Given the description of an element on the screen output the (x, y) to click on. 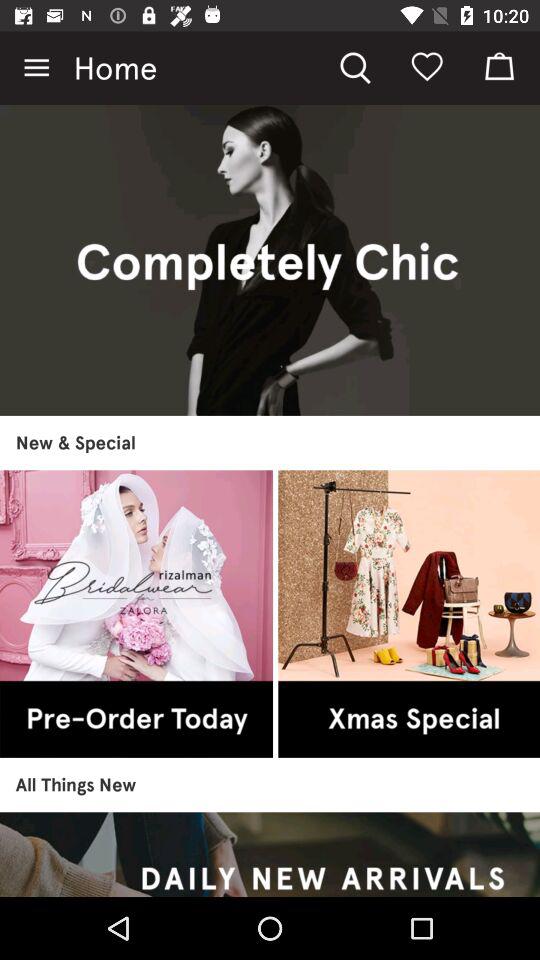
turn off the item next to home item (36, 68)
